Given the description of an element on the screen output the (x, y) to click on. 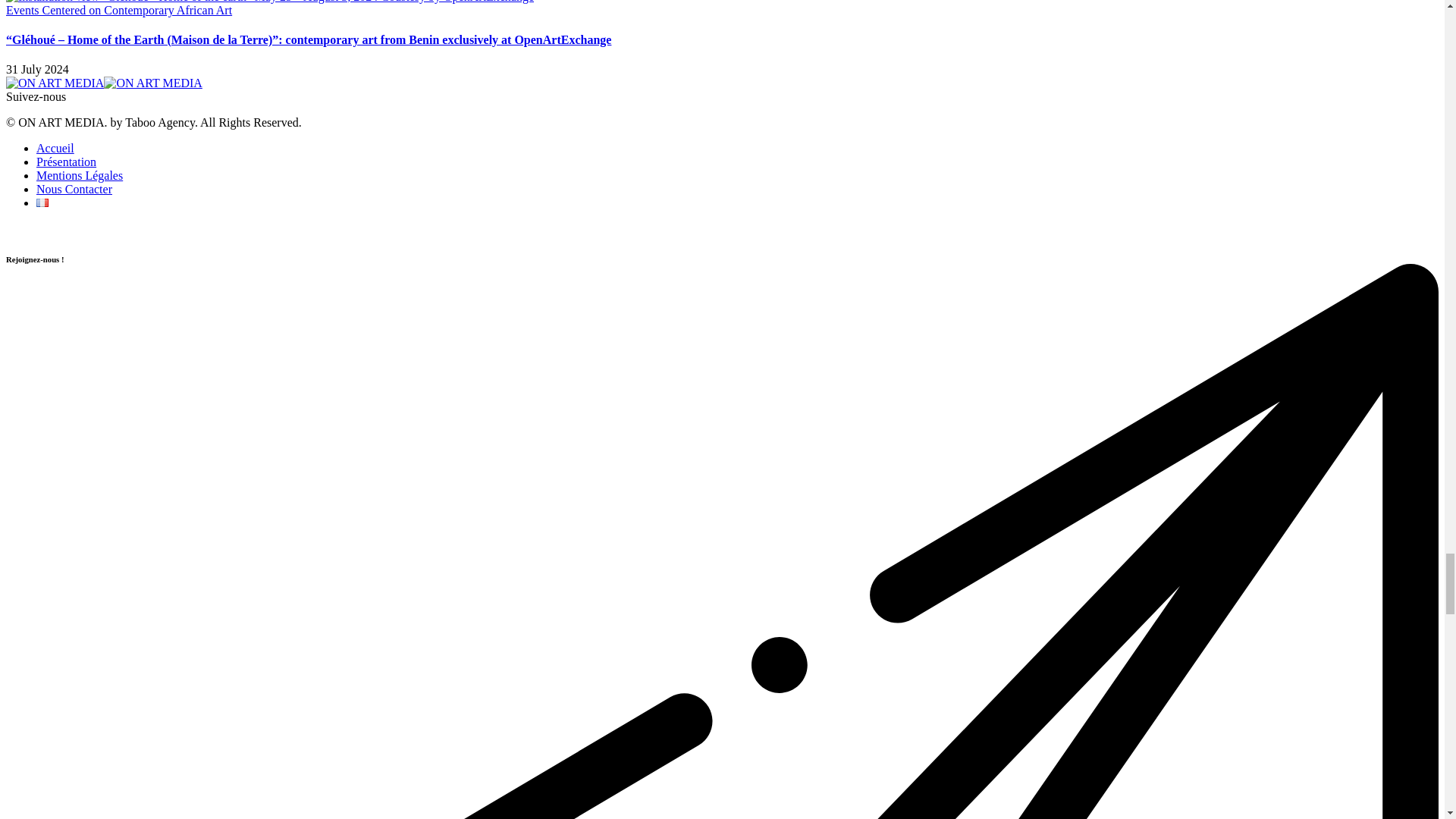
ON ART MEDIA (103, 82)
